Given the description of an element on the screen output the (x, y) to click on. 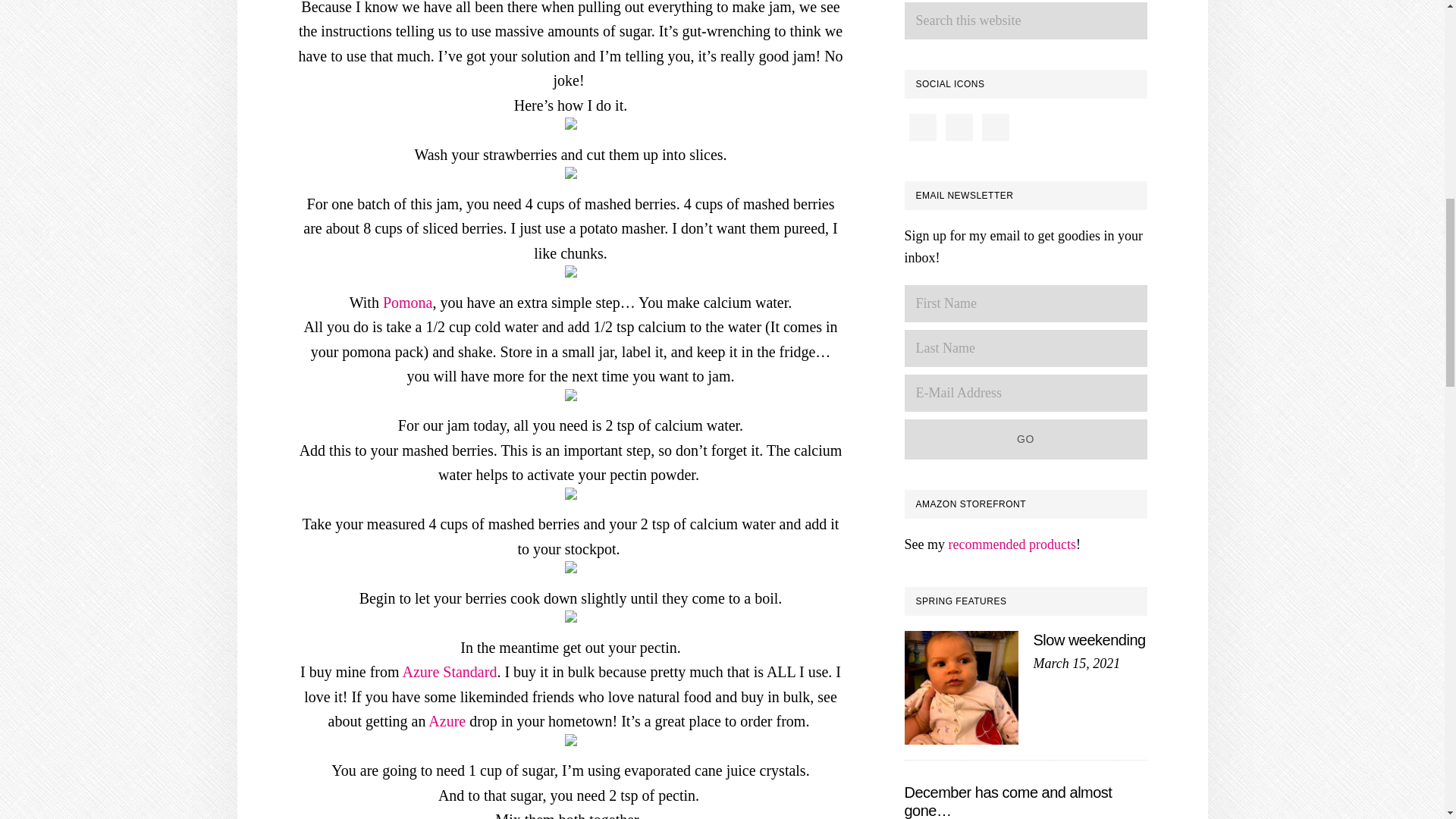
Azure (446, 720)
Go (1025, 439)
Azure Standard (448, 671)
Pomona (407, 302)
